Given the description of an element on the screen output the (x, y) to click on. 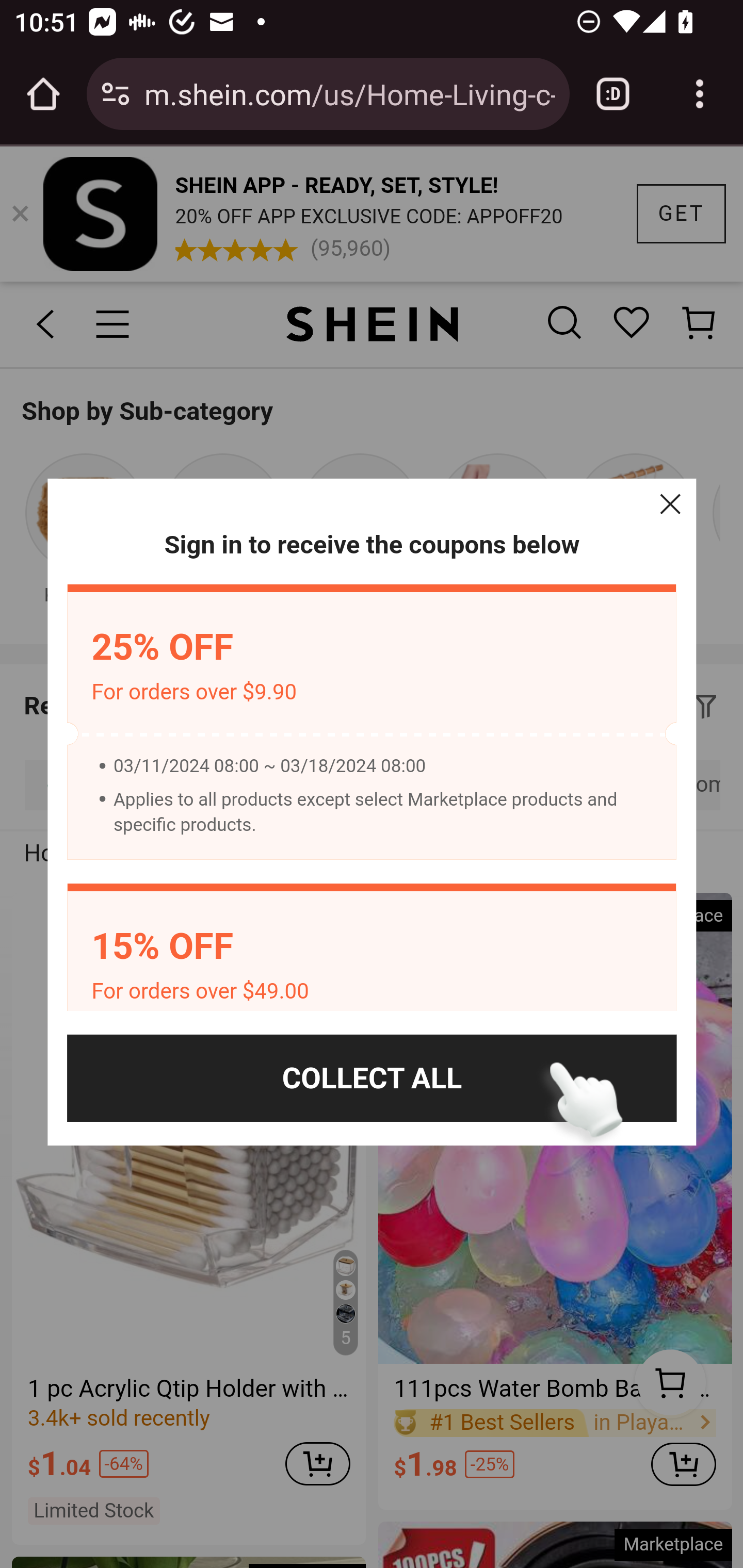
Open the home page (43, 93)
Connection is secure (115, 93)
Switch or close tabs (612, 93)
Customize and control Google Chrome (699, 93)
Close (669, 503)
COLLECT ALL (371, 1077)
